Given the description of an element on the screen output the (x, y) to click on. 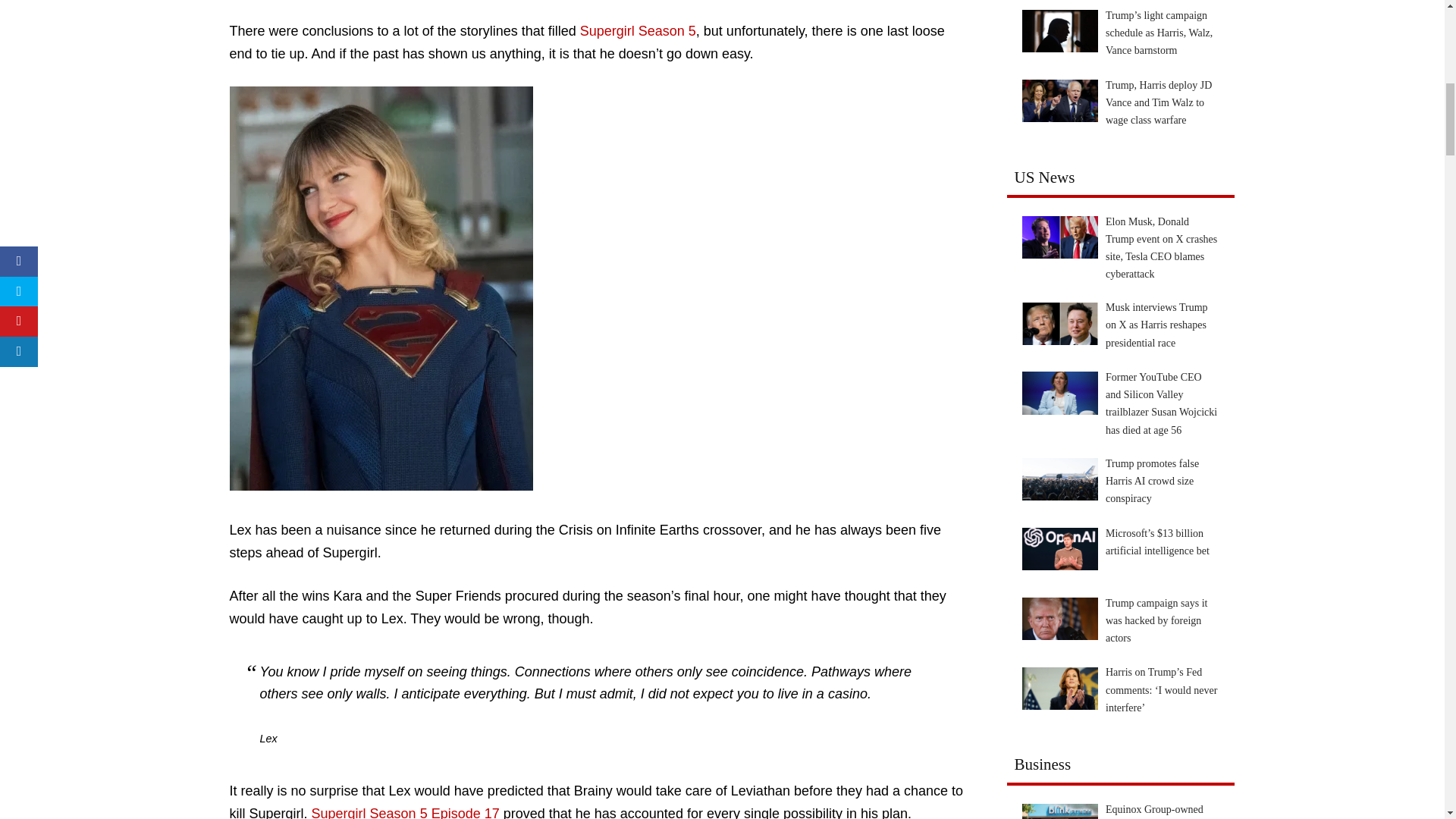
Trump promotes false Harris AI crowd size conspiracy (1059, 478)
